Given the description of an element on the screen output the (x, y) to click on. 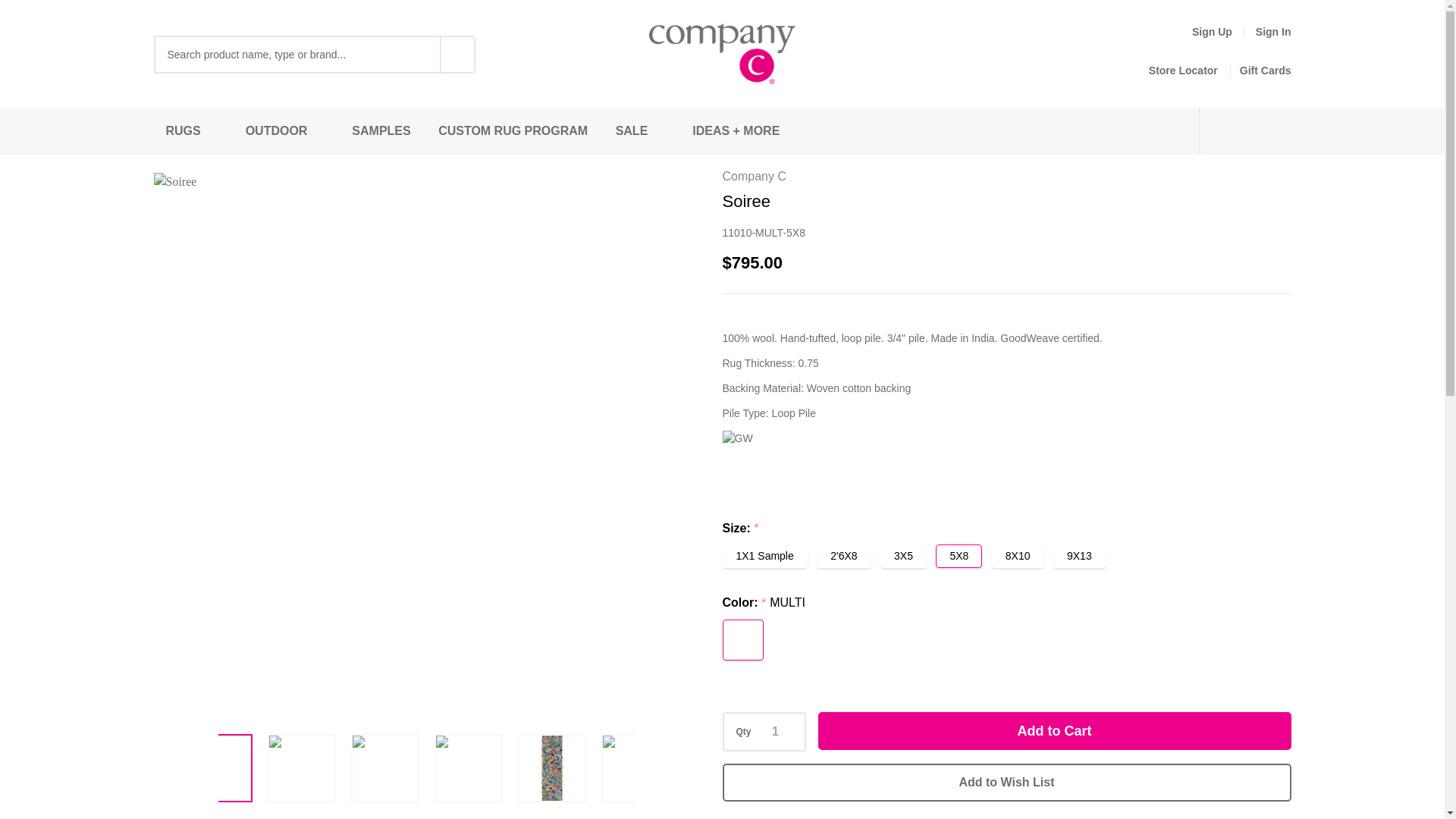
1 (775, 731)
Gift Cards (1254, 70)
Sign Up (1201, 32)
Sign In (1273, 32)
Gift Cards (1254, 70)
More (657, 130)
Store Locator (1177, 70)
Sign Up (1201, 32)
Company C (721, 54)
Sign In (1273, 32)
